Given the description of an element on the screen output the (x, y) to click on. 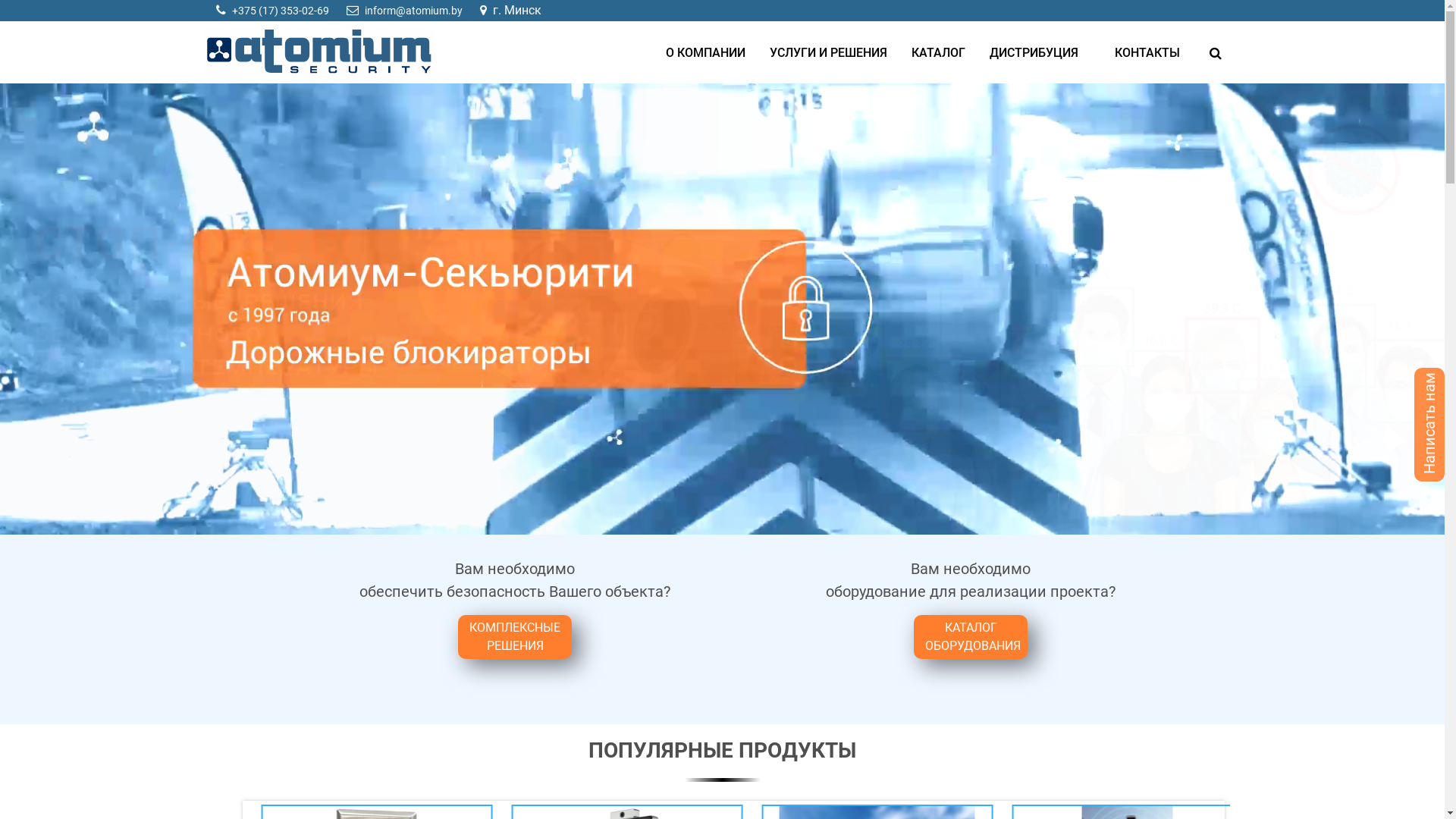
+375 (17) 353-02-69 Element type: text (280, 10)
inform@atomium.by Element type: text (412, 10)
